Given the description of an element on the screen output the (x, y) to click on. 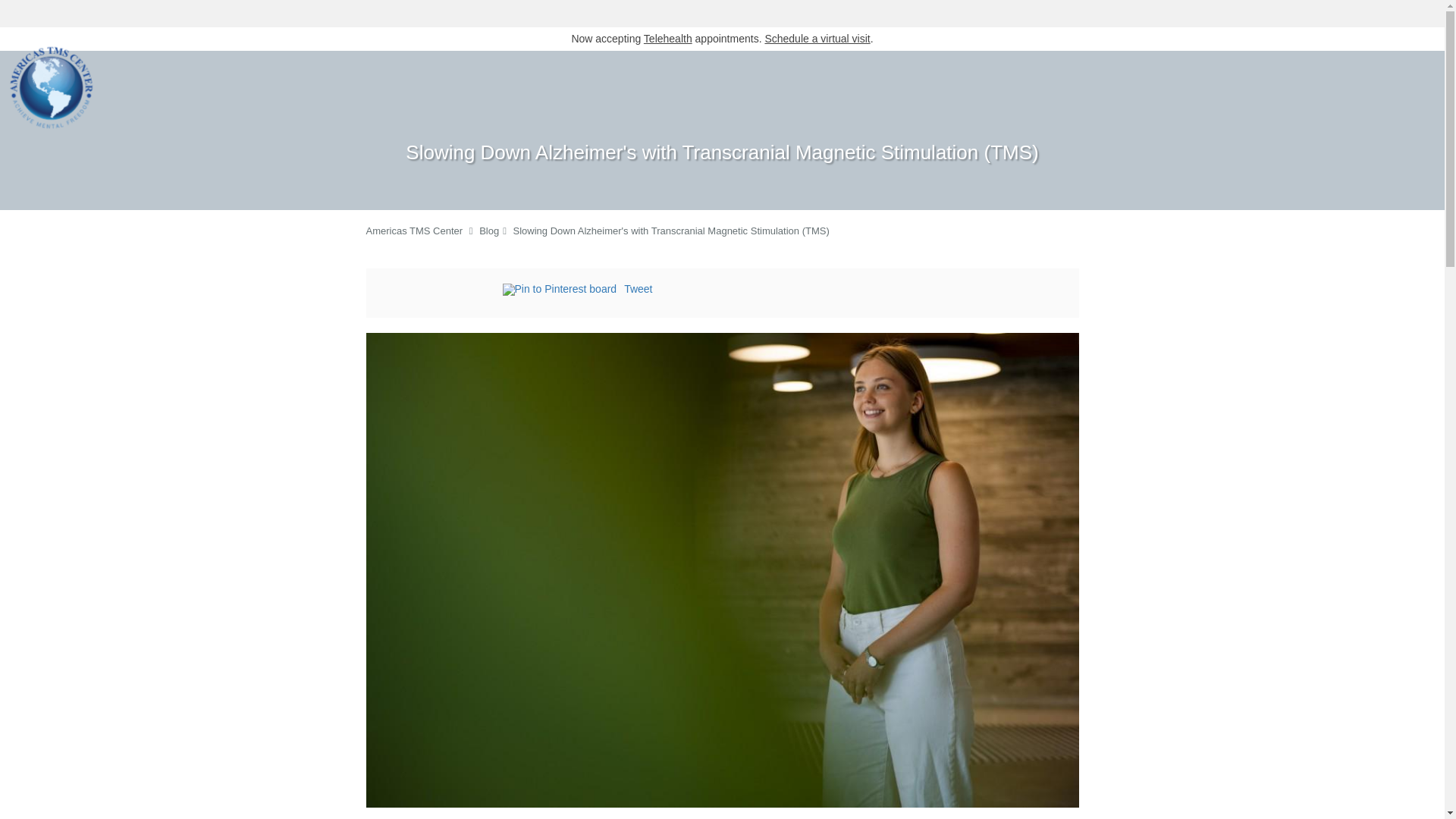
Skip to main content (74, 34)
Schedule a virtual visit (816, 38)
Telehealth (668, 38)
Facebook social button (441, 291)
